Given the description of an element on the screen output the (x, y) to click on. 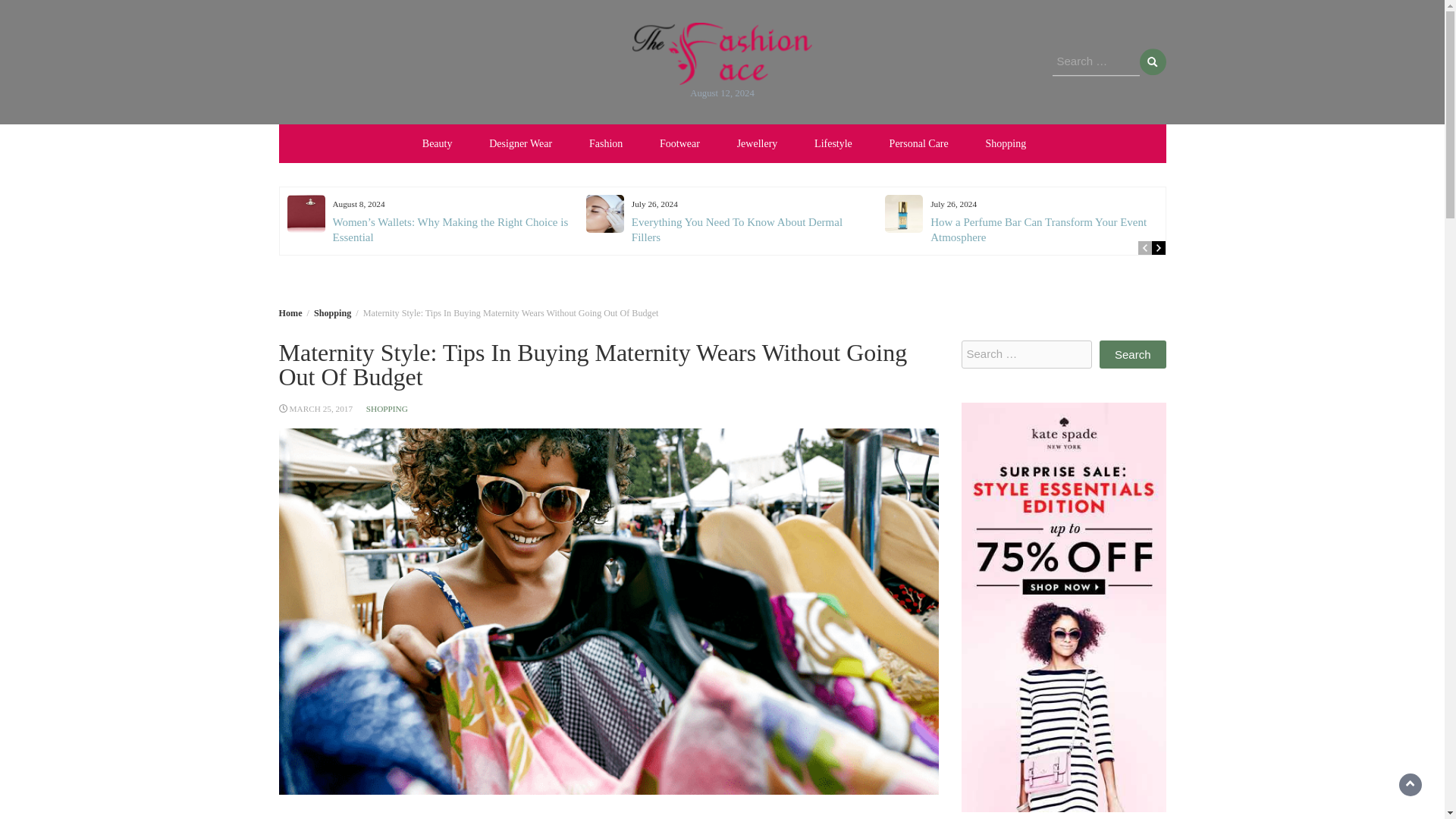
Lifestyle (833, 143)
Footwear (679, 143)
Search (1132, 354)
Search (1132, 354)
Search for: (1096, 62)
Shopping (332, 312)
SHOPPING (386, 408)
Search (1152, 61)
Search (1152, 61)
Personal Care (919, 143)
